Given the description of an element on the screen output the (x, y) to click on. 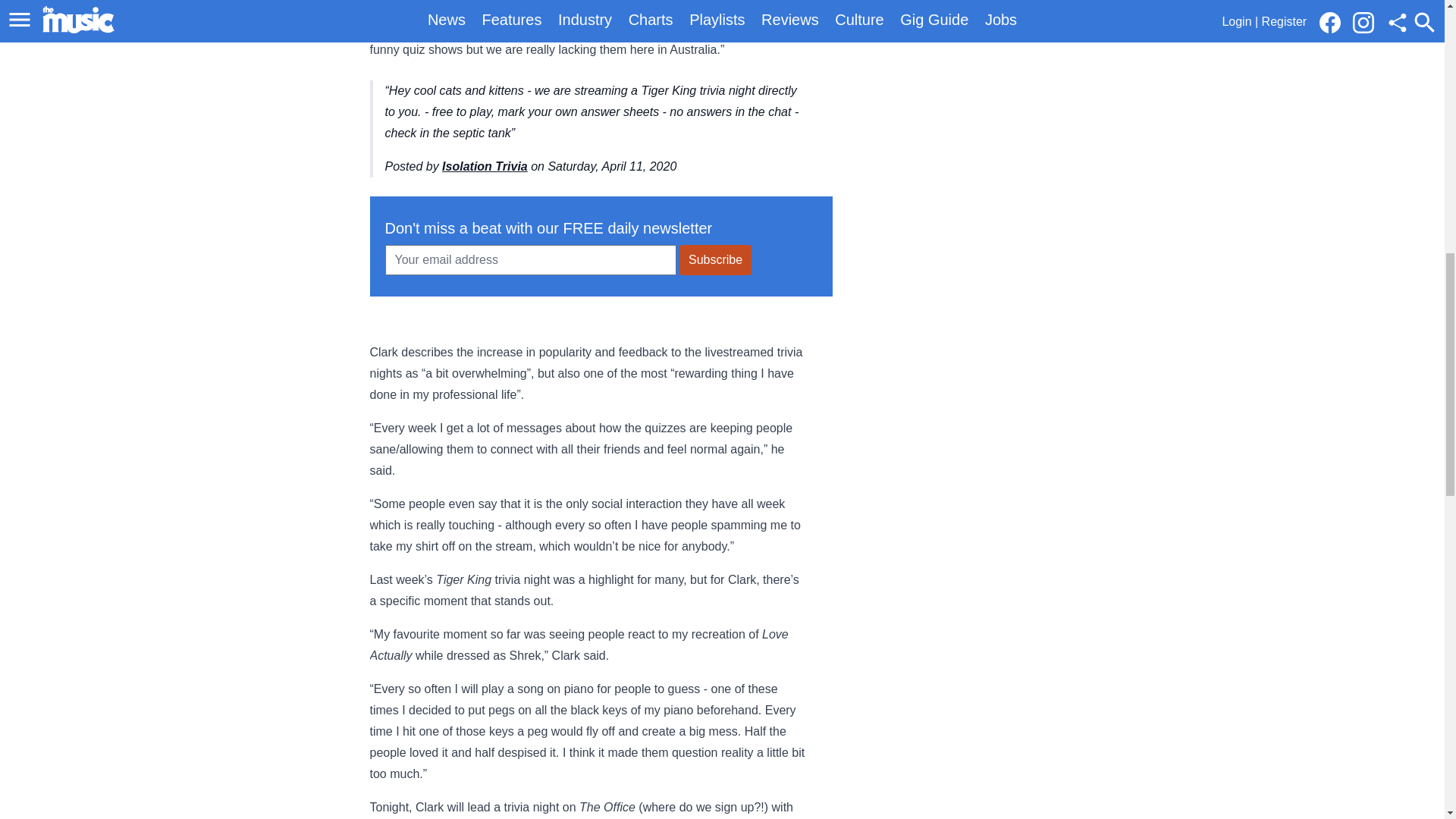
Subscribe (715, 259)
Isolation Trivia (484, 165)
